Given the description of an element on the screen output the (x, y) to click on. 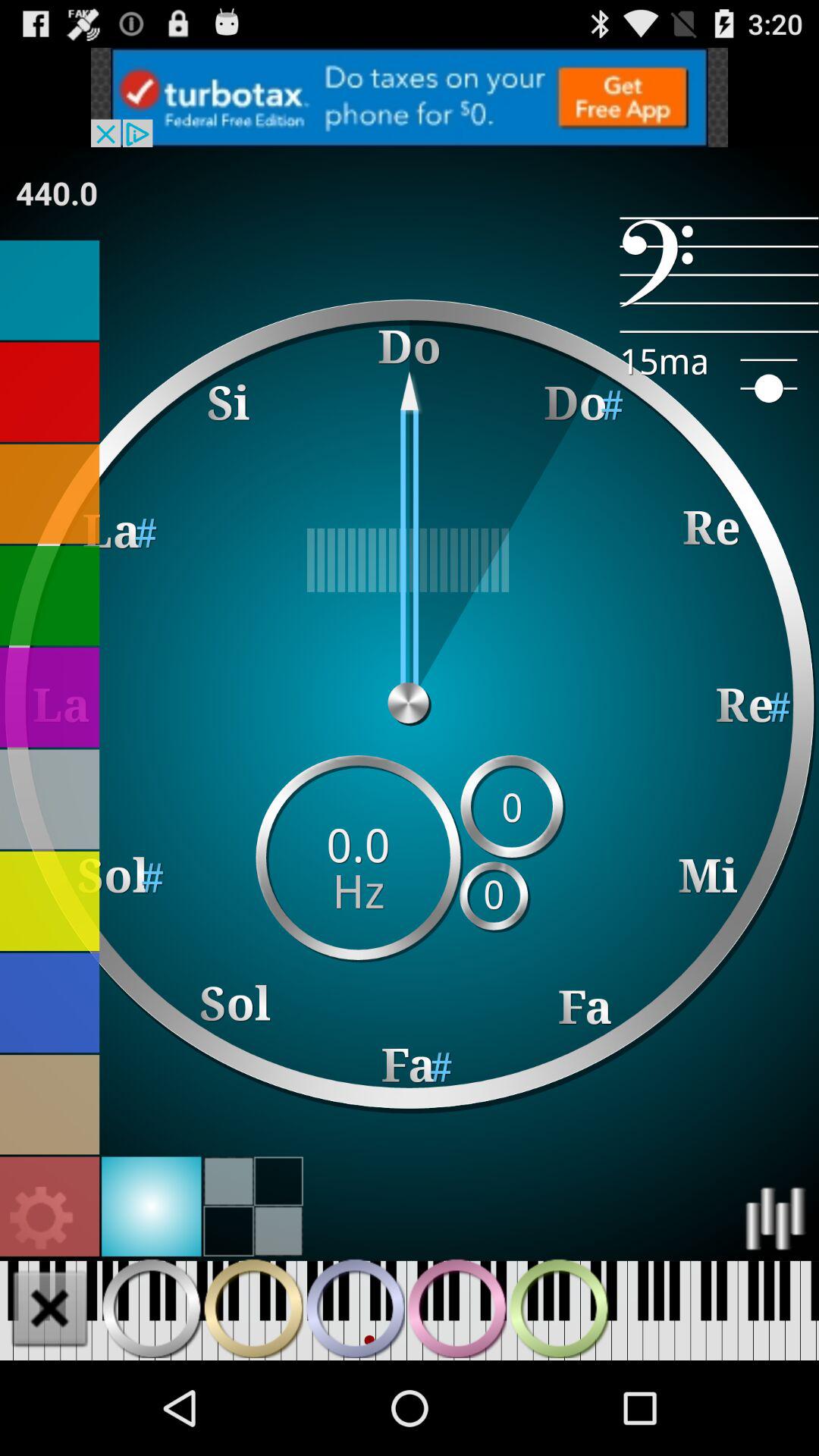
change background color to grey (49, 799)
